Given the description of an element on the screen output the (x, y) to click on. 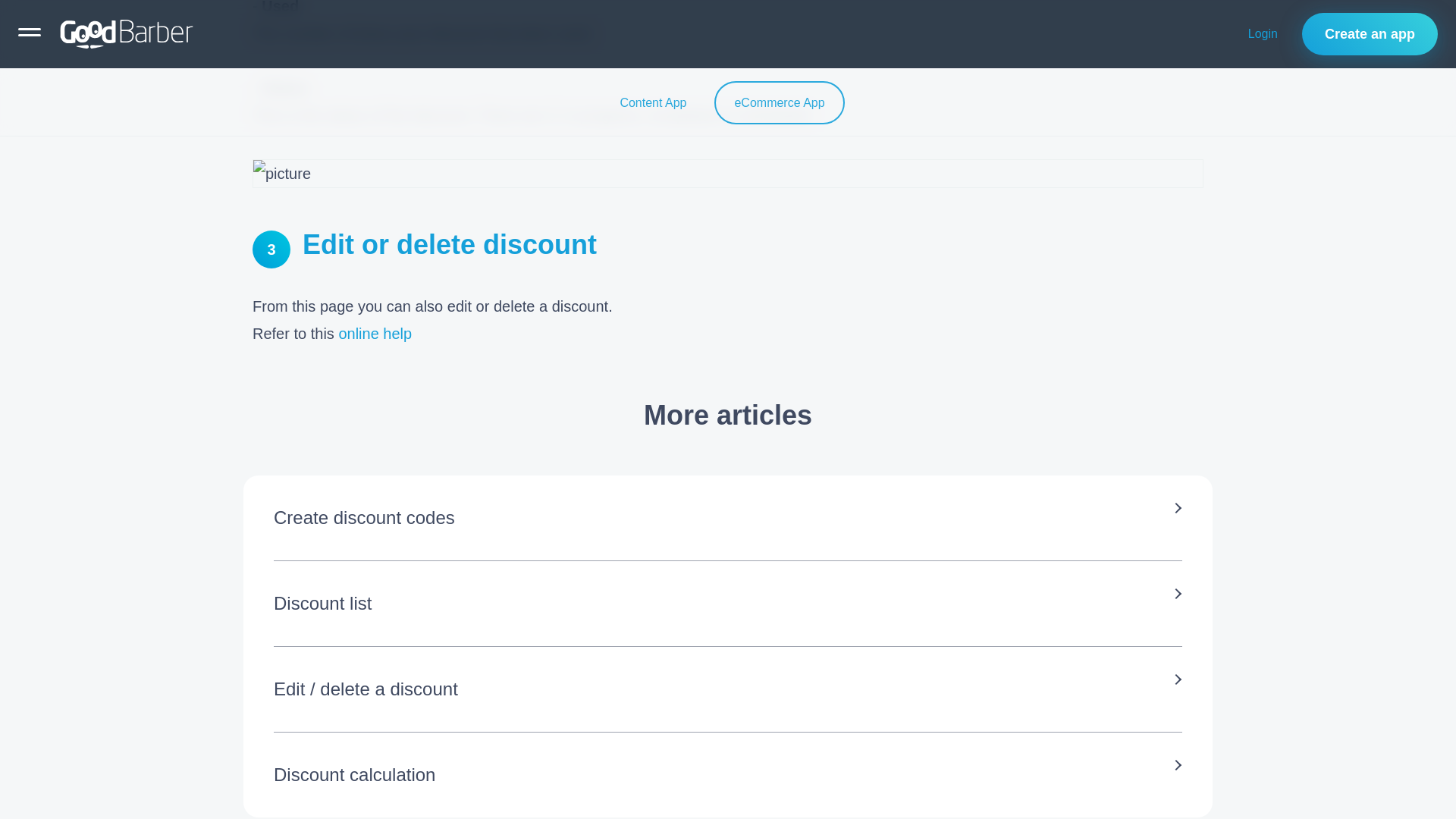
picture (727, 173)
